Given the description of an element on the screen output the (x, y) to click on. 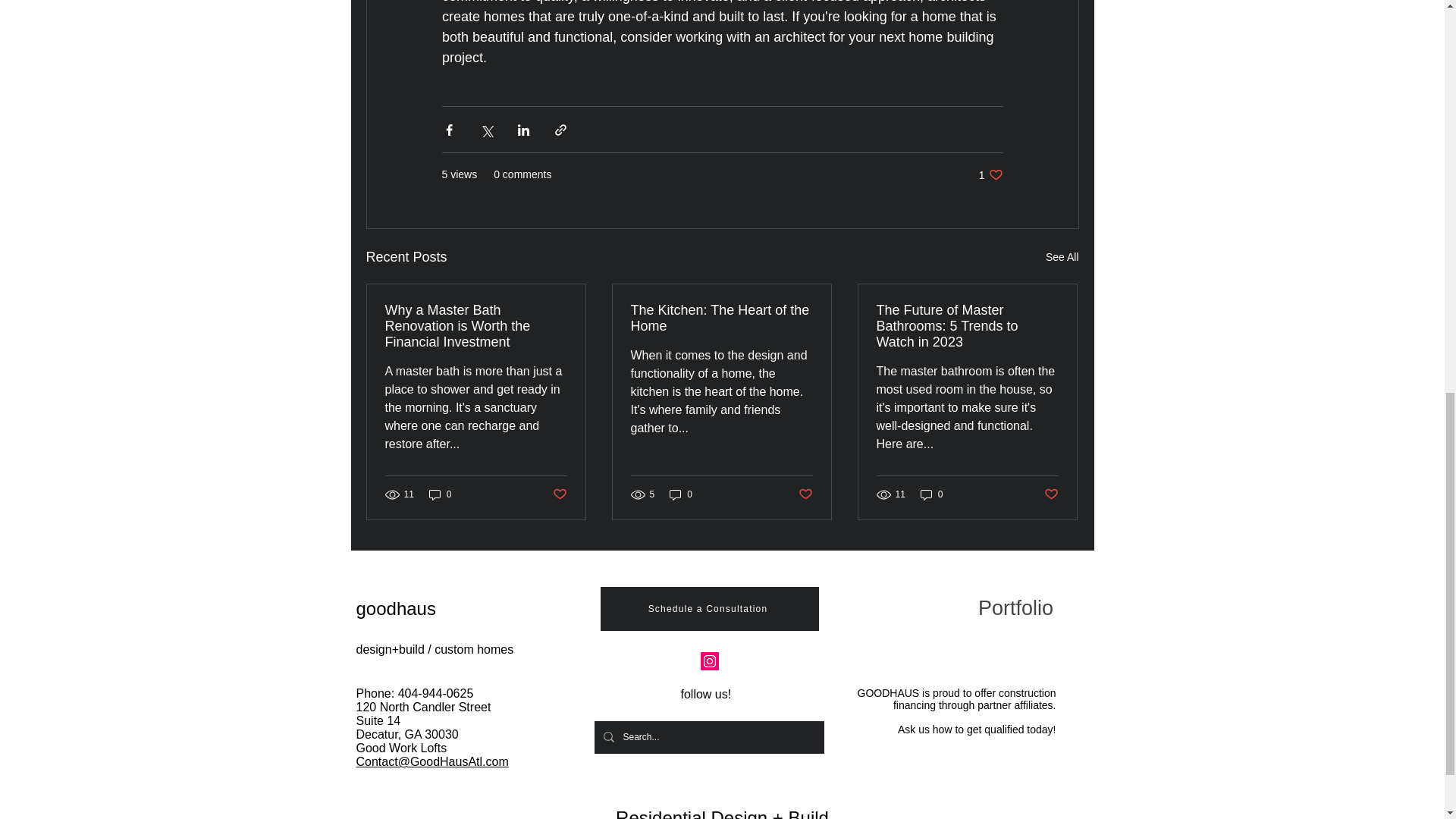
0 (681, 493)
Schedule a Consultation (708, 608)
Post not marked as liked (1050, 494)
The Future of Master Bathrooms: 5 Trends to Watch in 2023 (967, 326)
The Kitchen: The Heart of the Home (721, 318)
0 (931, 493)
Post not marked as liked (804, 494)
Portfolio (1014, 608)
